Given the description of an element on the screen output the (x, y) to click on. 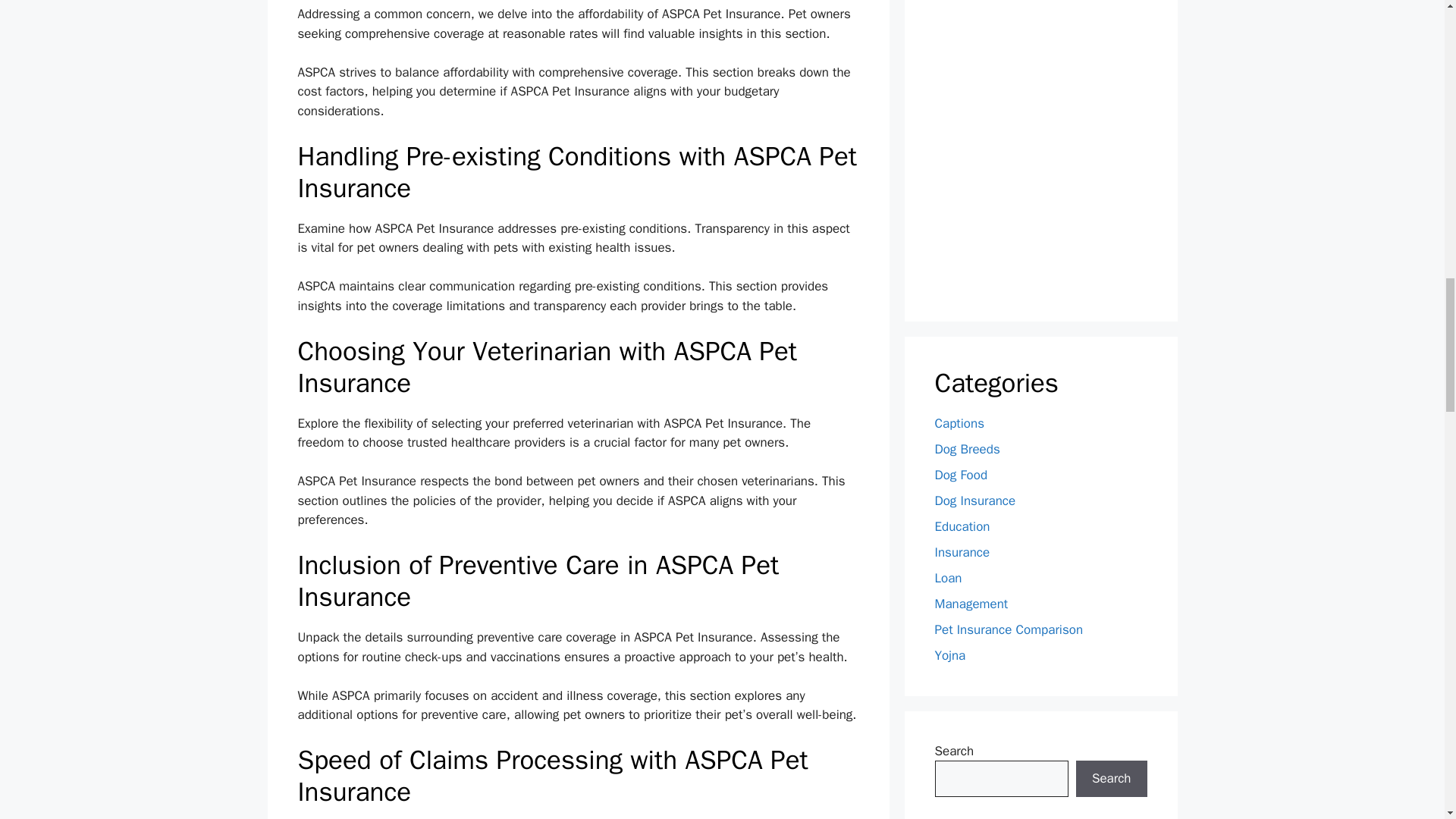
Dog Breeds (966, 449)
Education (962, 526)
Pet Insurance Comparison (1008, 629)
Captions (959, 423)
Management (970, 603)
Dog Insurance (974, 500)
Dog Food (960, 474)
Loan (947, 578)
Insurance (962, 552)
